Given the description of an element on the screen output the (x, y) to click on. 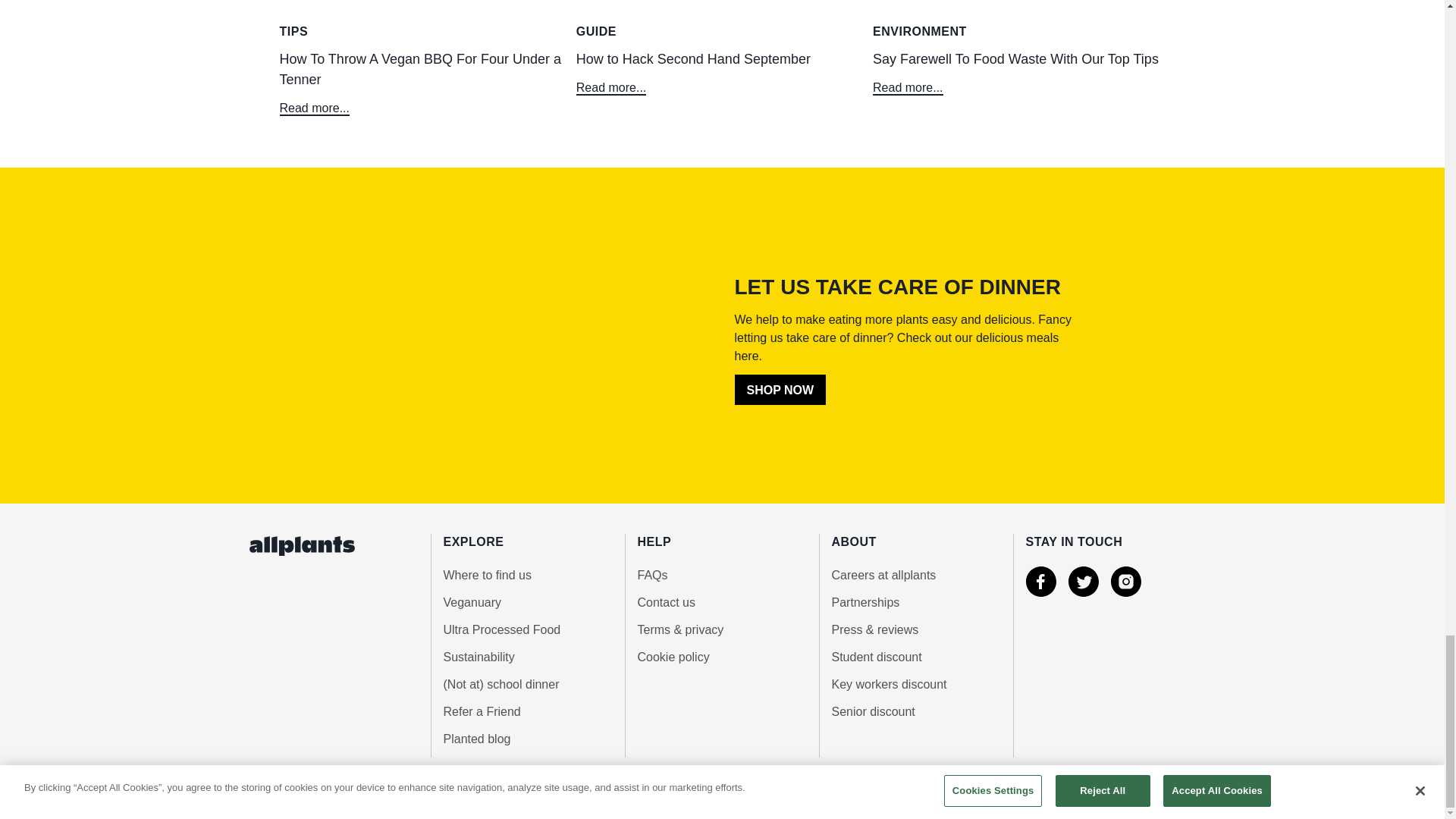
Read more... (611, 87)
Veganuary (526, 602)
ENVIRONMENT (1018, 31)
Where to find us (526, 575)
Sustainability (526, 657)
Read more... (907, 87)
Ultra Processed Food (526, 629)
Say Farewell To Food Waste With Our Top Tips  (1018, 71)
Read more... (314, 107)
SHOP NOW (779, 389)
TIPS (424, 31)
How to Hack Second Hand September (721, 71)
How To Throw A Vegan BBQ For Four Under a Tenner (424, 81)
GUIDE (721, 31)
